Given the description of an element on the screen output the (x, y) to click on. 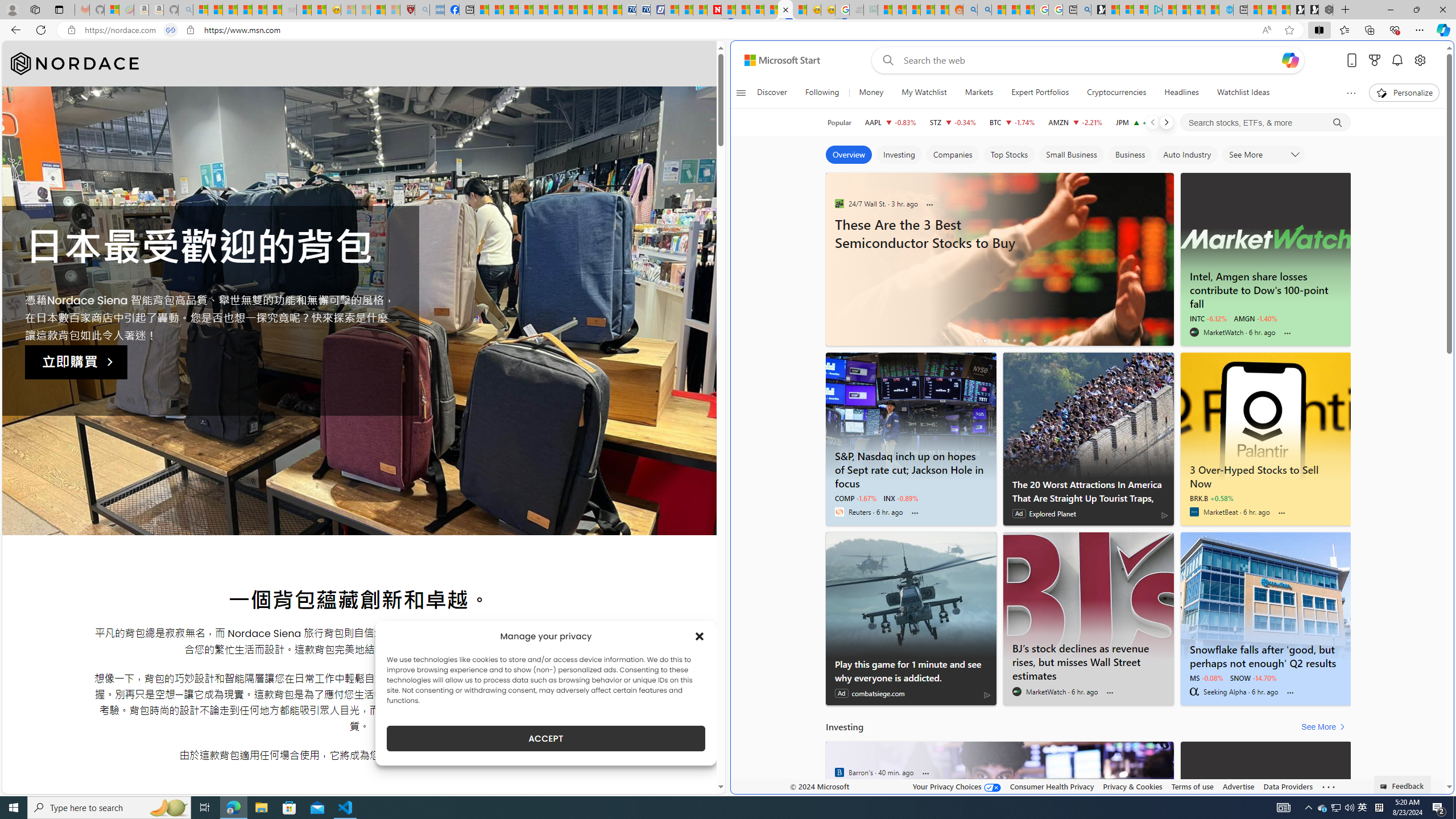
Business (1129, 154)
INX -0.89% (900, 497)
AMZN AMAZON.COM, INC. decrease 176.13 -3.98 -2.21% (1075, 122)
INTC -6.12% (1208, 317)
